Given the description of an element on the screen output the (x, y) to click on. 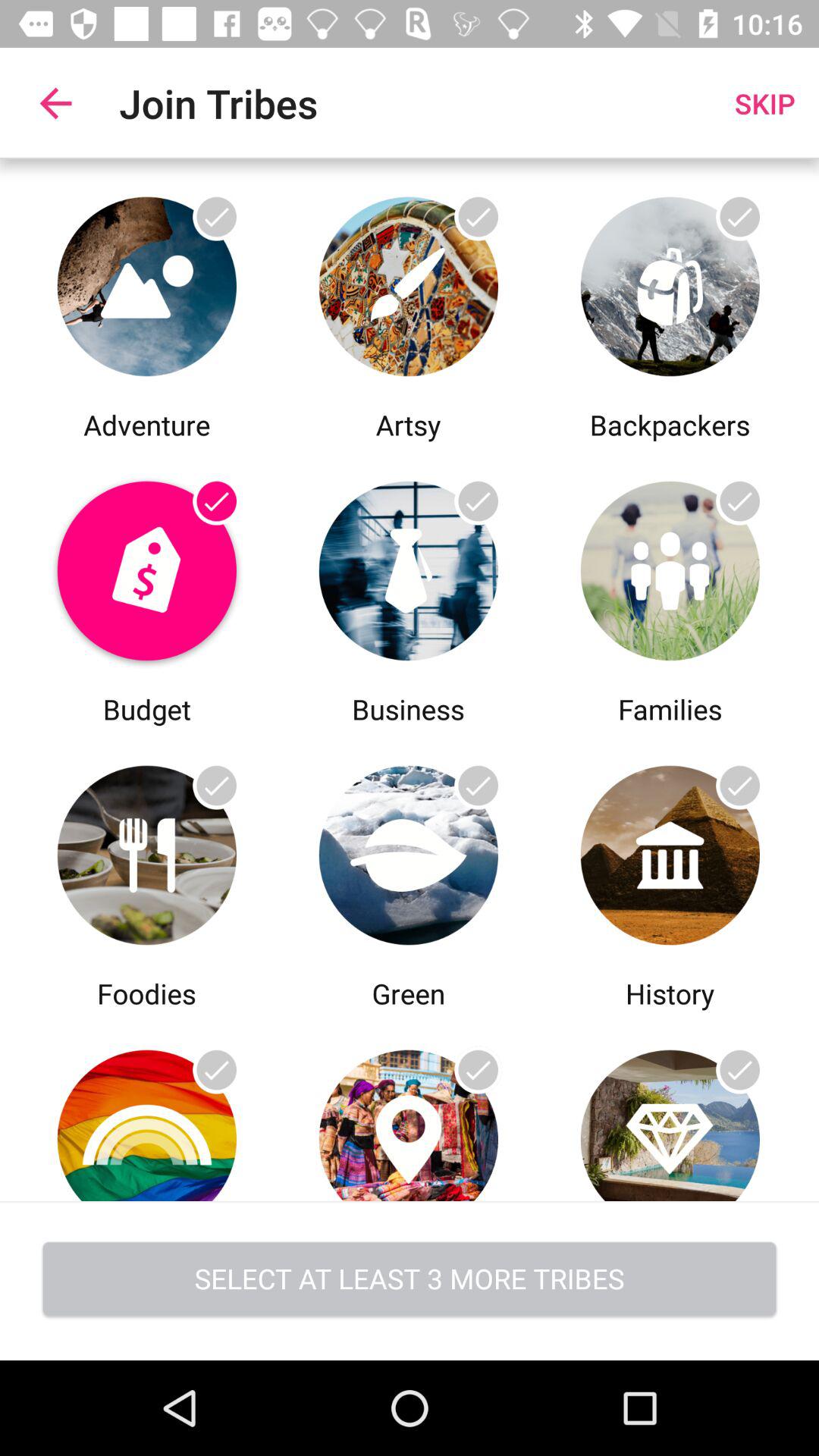
select artsy category (408, 282)
